Given the description of an element on the screen output the (x, y) to click on. 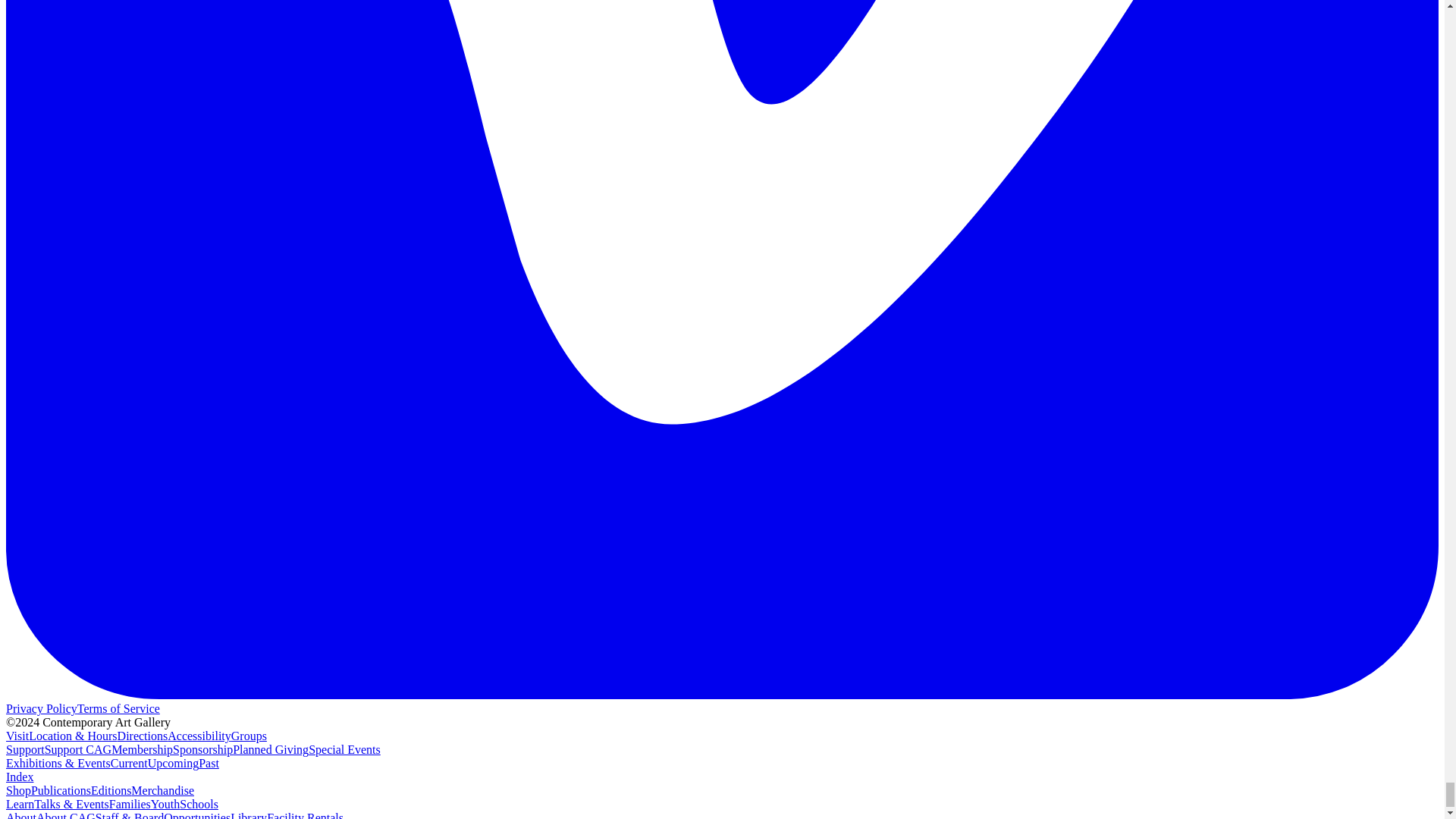
Visit (17, 735)
Terms of Service (118, 707)
Privacy Policy (41, 707)
Accessibility (199, 735)
Directions (142, 735)
Groups (248, 735)
